Given the description of an element on the screen output the (x, y) to click on. 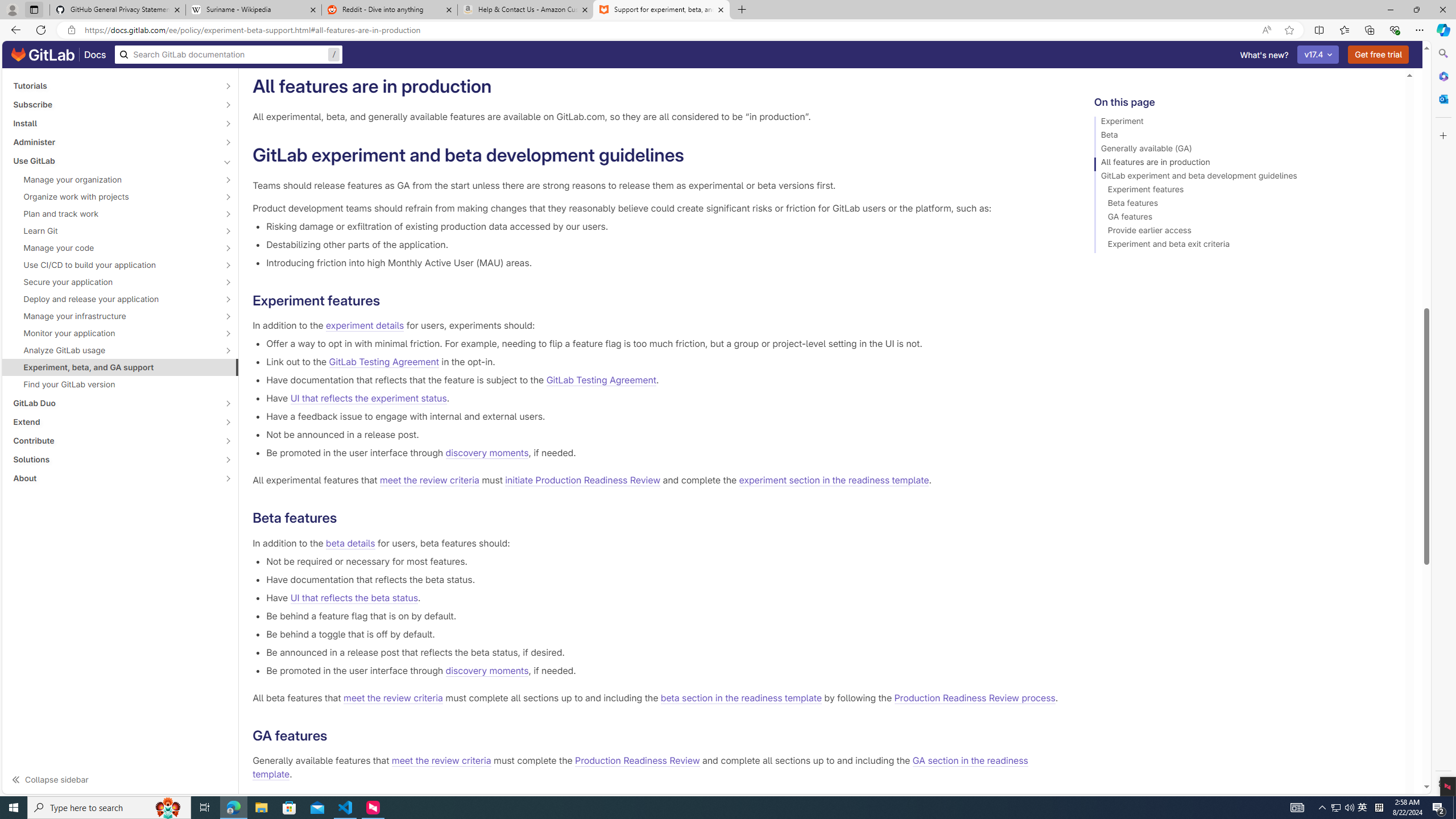
Analyze GitLab usage (113, 349)
Not be announced in a release post. (662, 434)
Solutions (113, 459)
All features are in production (1244, 164)
UI that reflects the beta status (353, 597)
Destabilizing other parts of the application. (662, 244)
GitLab documentation home (42, 54)
Experiment and beta exit criteria (1244, 246)
GA section in the readiness template (639, 767)
